Given the description of an element on the screen output the (x, y) to click on. 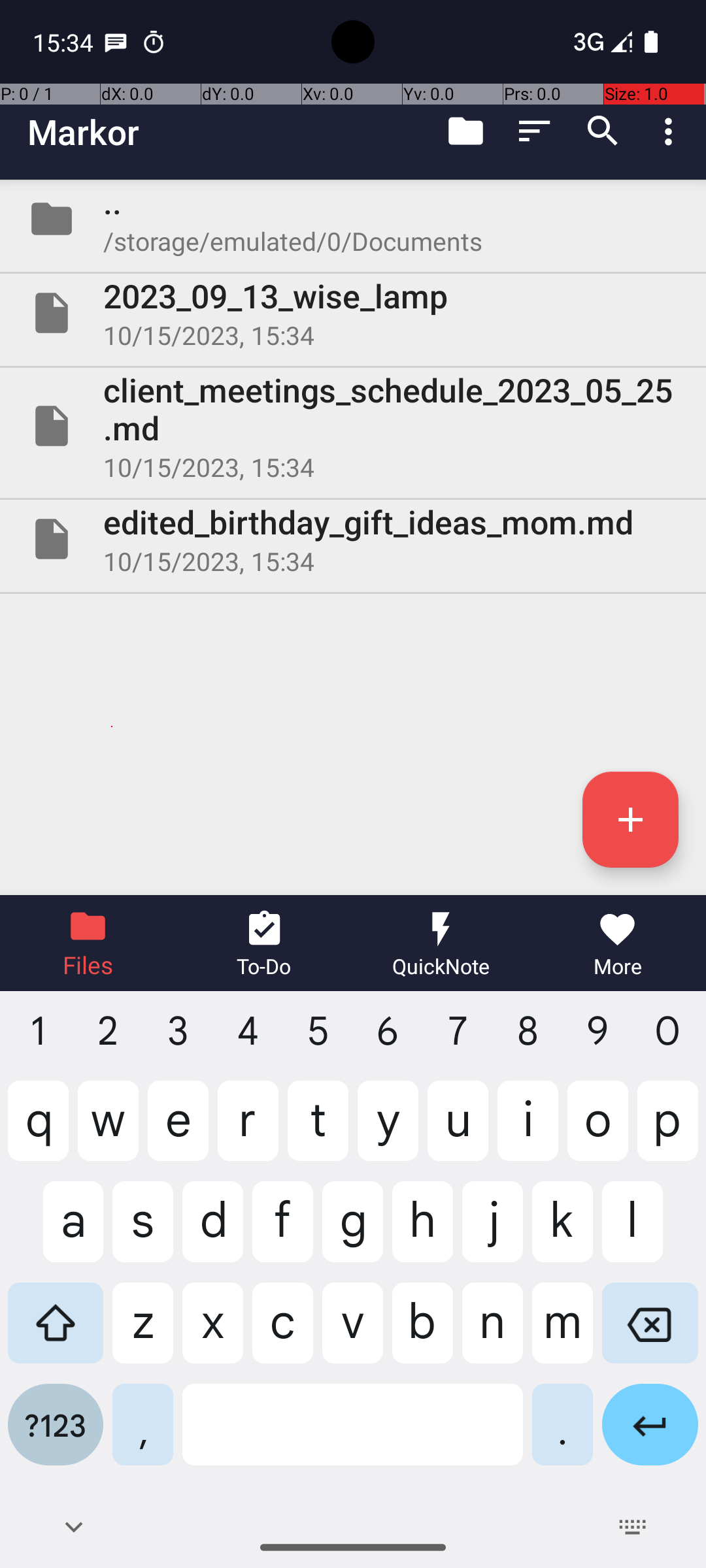
File 2023_09_13_wise_lamp  Element type: android.widget.LinearLayout (353, 312)
File client_meetings_schedule_2023_05_25.md  Element type: android.widget.LinearLayout (353, 425)
File edited_birthday_gift_ideas_mom.md  Element type: android.widget.LinearLayout (353, 538)
